Given the description of an element on the screen output the (x, y) to click on. 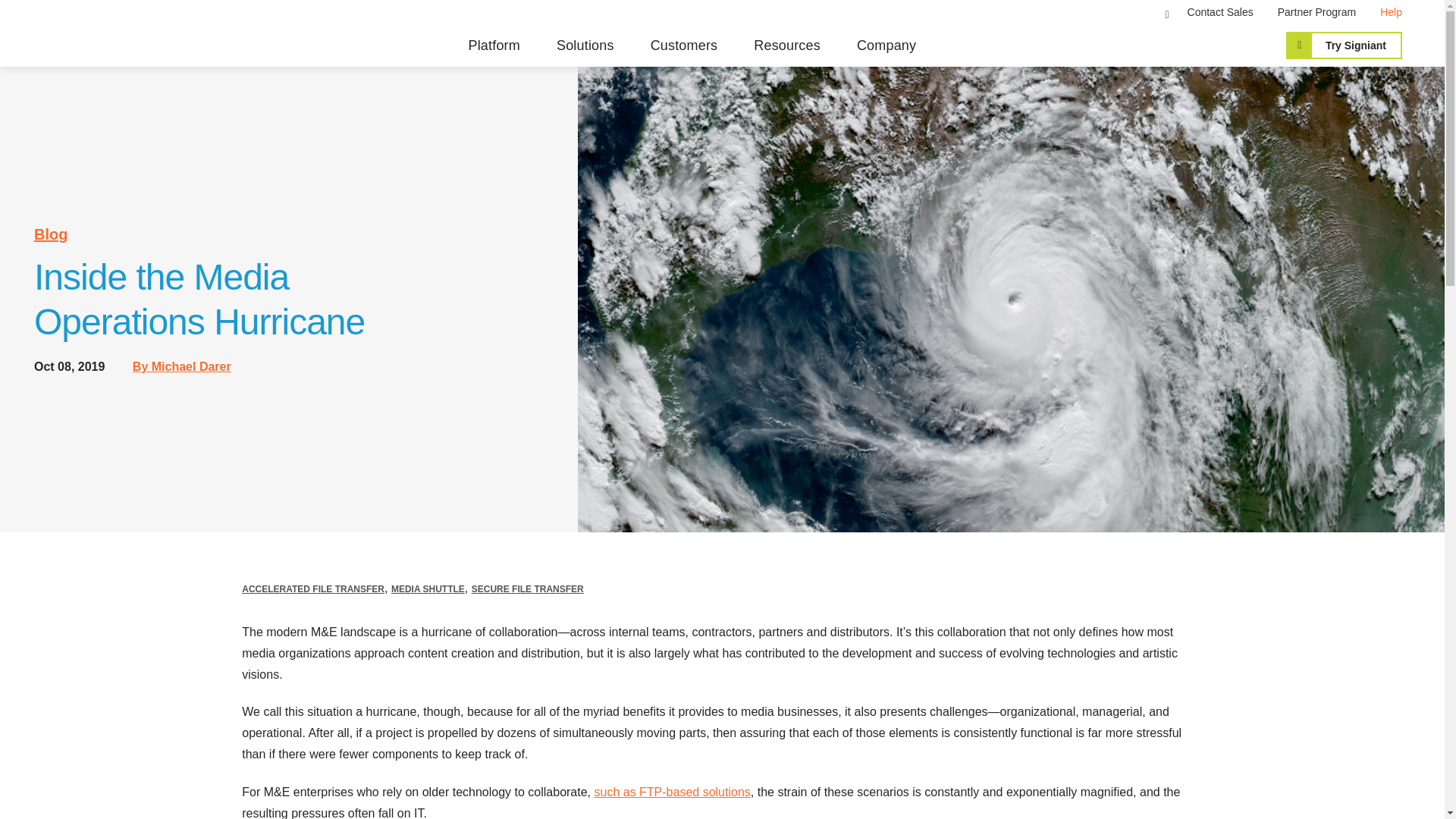
Partner Program (1316, 11)
Solutions (585, 45)
Platform (493, 45)
Contact Sales (1220, 11)
Customers (684, 45)
View more content by Michael Darer (181, 366)
Resources (787, 45)
Help (1391, 11)
